Given the description of an element on the screen output the (x, y) to click on. 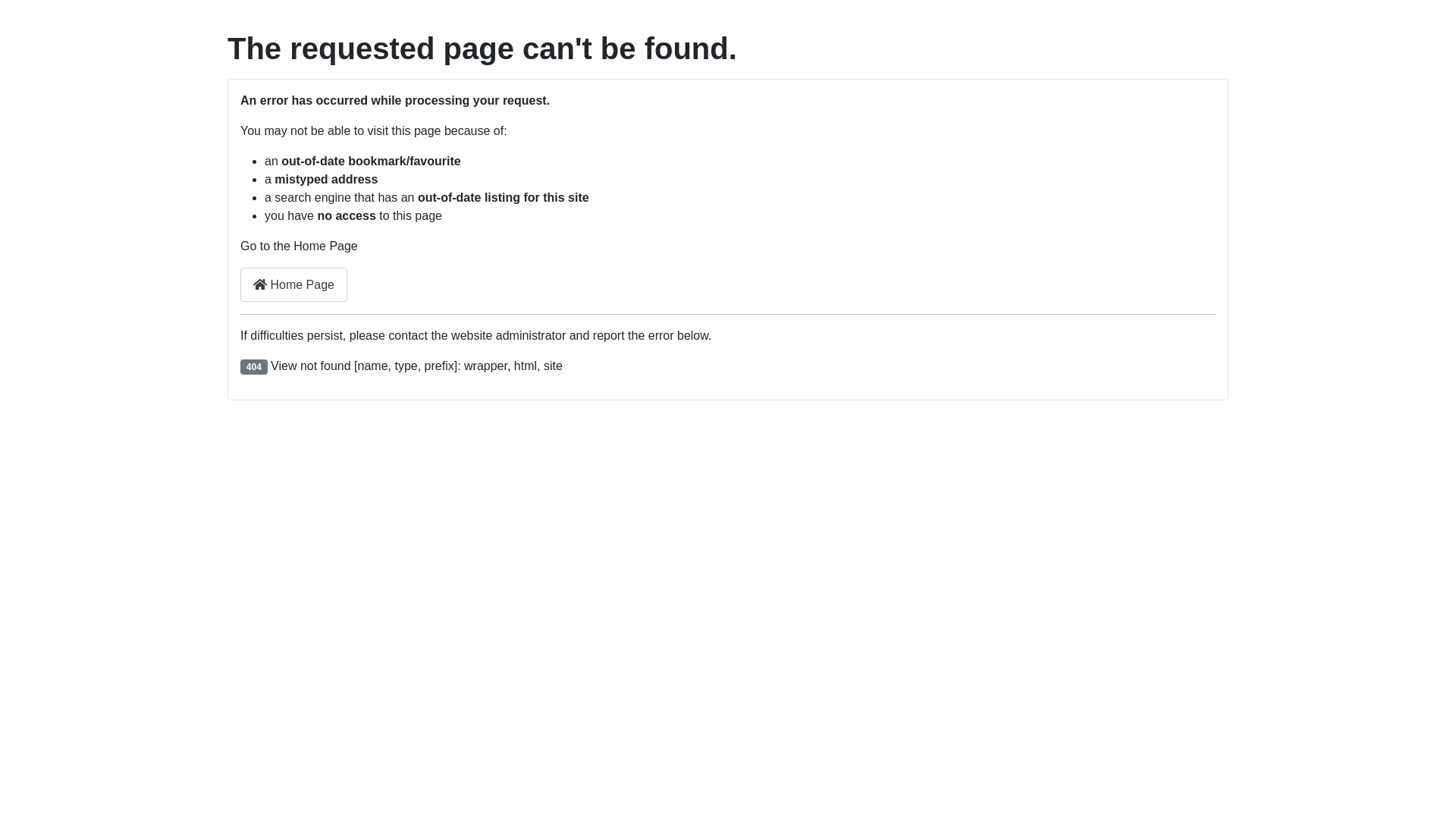
Home Page Element type: text (293, 284)
